Given the description of an element on the screen output the (x, y) to click on. 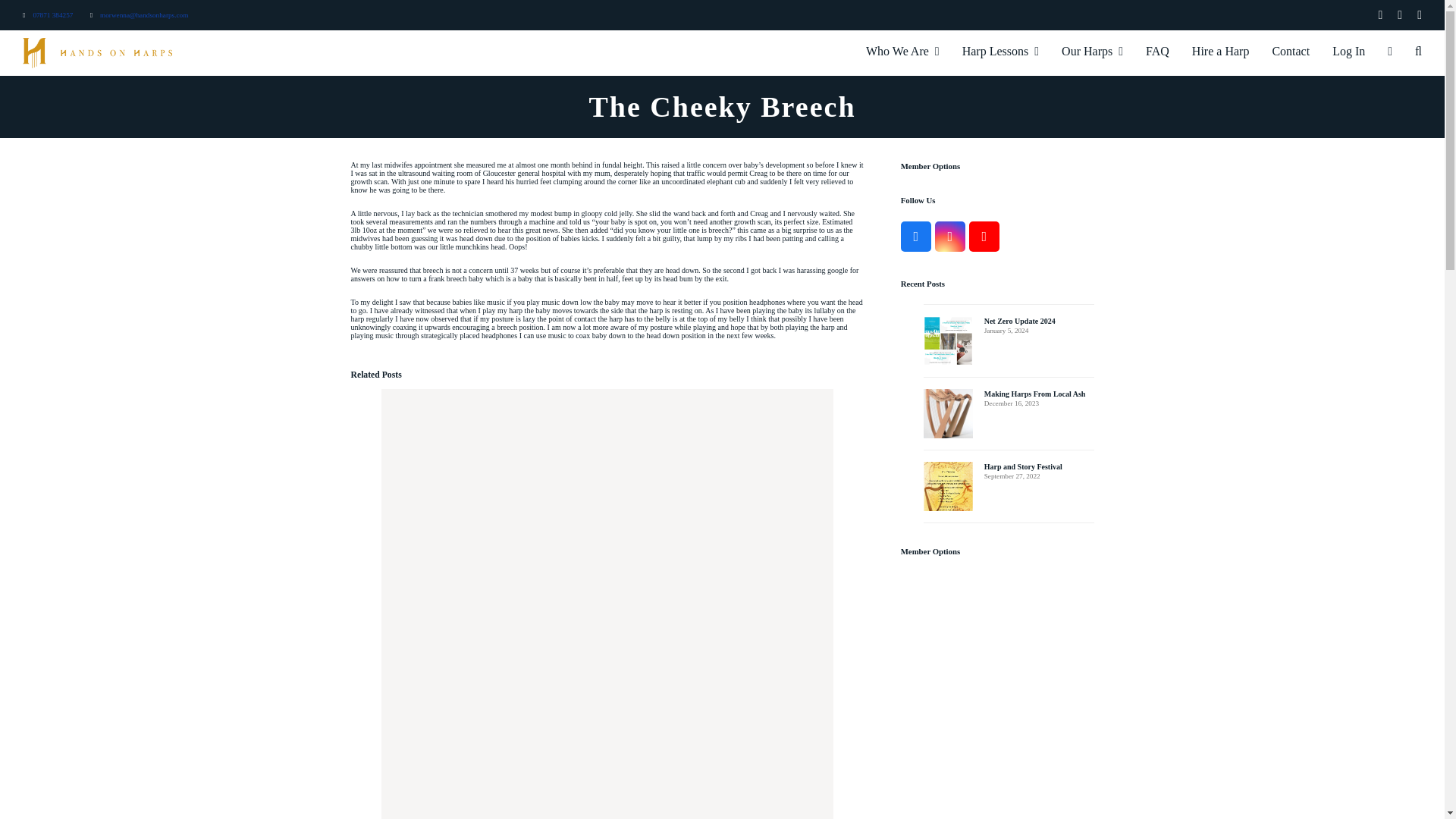
Instagram (949, 236)
Log In (1347, 53)
Who We Are (902, 53)
Contact (1290, 53)
FAQ (1157, 53)
YouTube (983, 236)
Hire a Harp (1220, 53)
07871 384257 (52, 14)
Net Zero Update 2024 (606, 613)
Harp Lessons (999, 53)
